Given the description of an element on the screen output the (x, y) to click on. 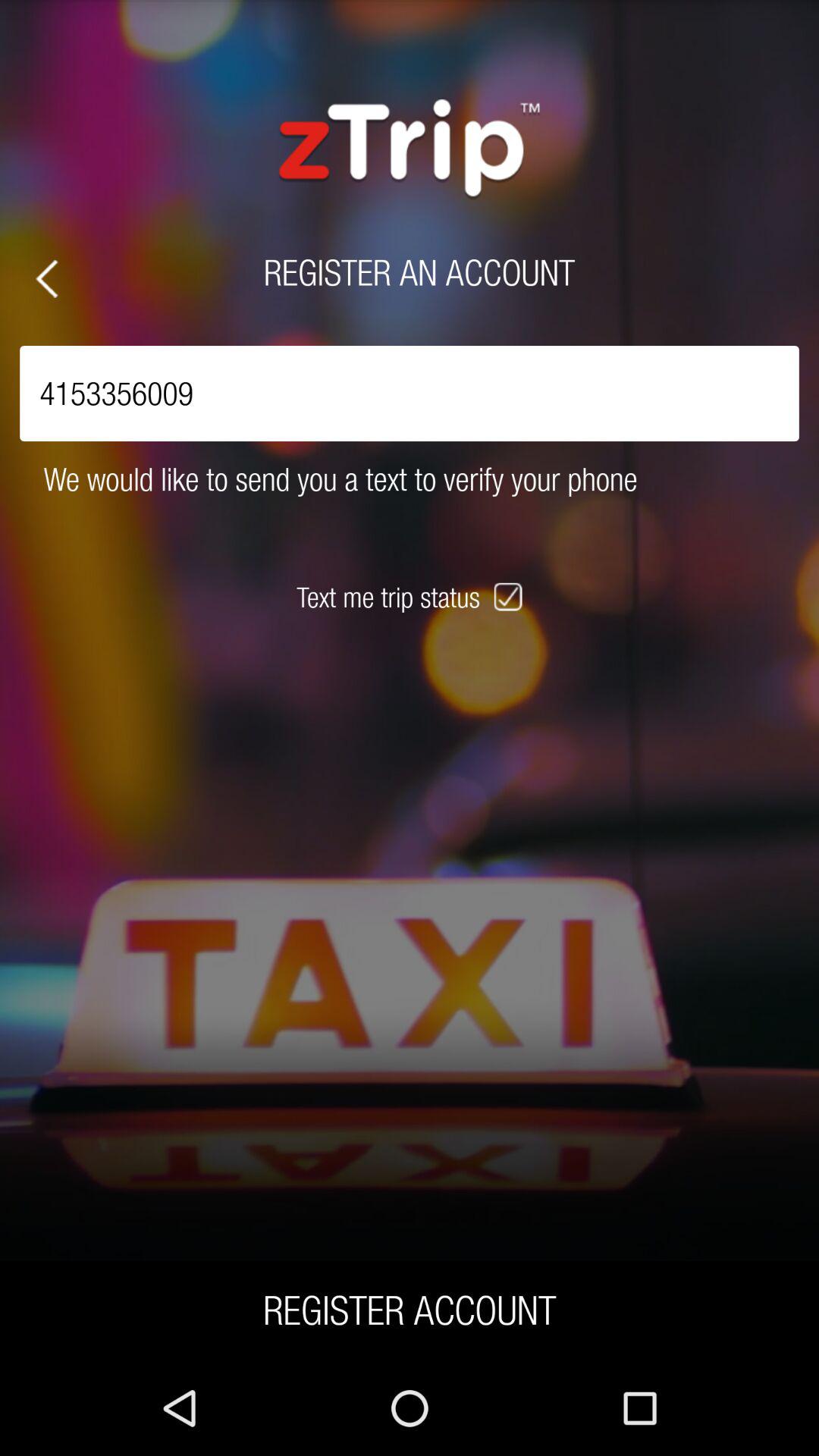
choose the icon to the left of register an account icon (46, 278)
